Given the description of an element on the screen output the (x, y) to click on. 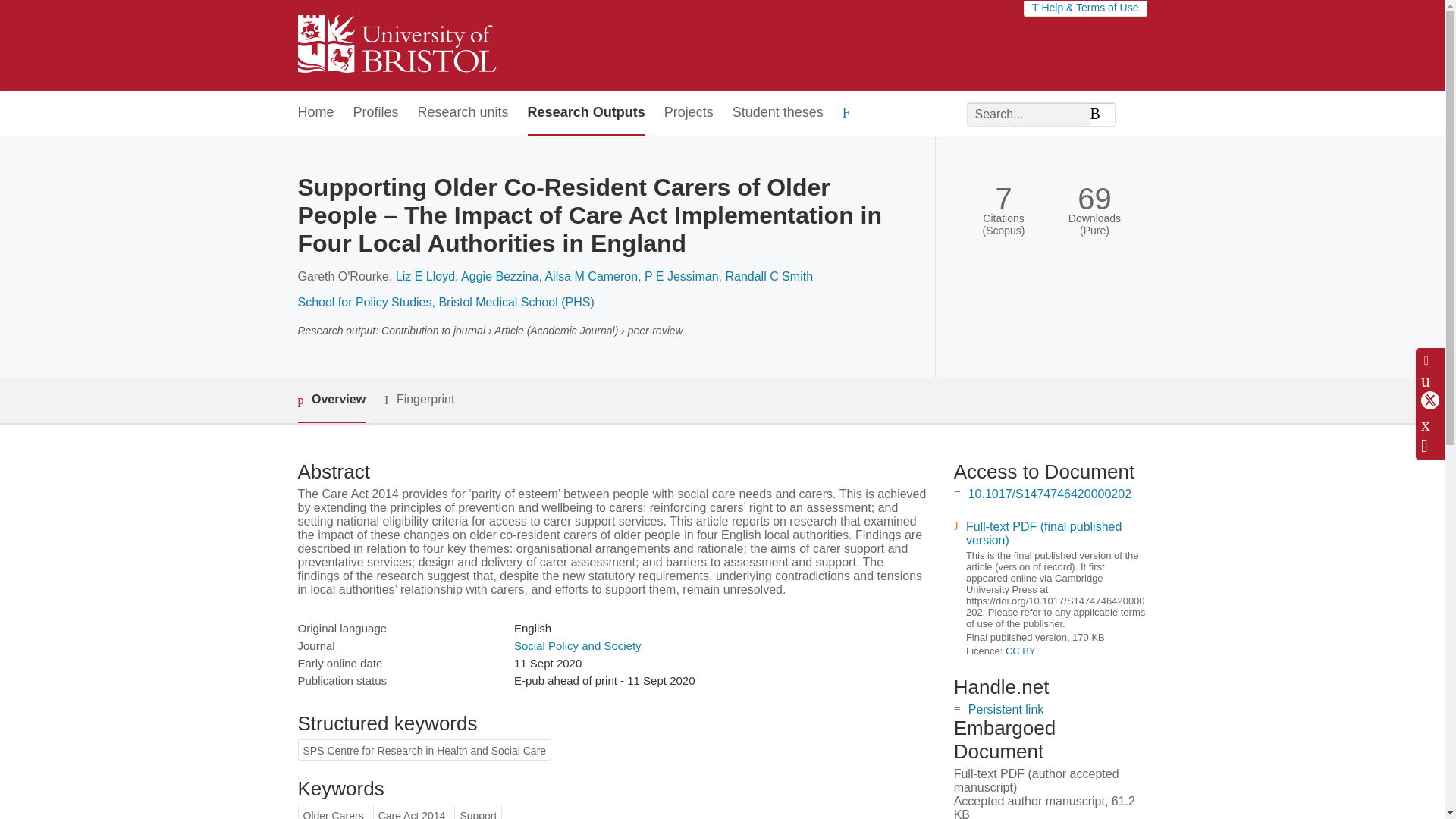
Randall C Smith (768, 276)
Research units (462, 112)
Persistent link (1005, 708)
Liz E Lloyd (425, 276)
Research Outputs (586, 112)
University of Bristol Home (396, 45)
Overview (331, 400)
Fingerprint (419, 399)
Aggie Bezzina (499, 276)
Student theses (778, 112)
Profiles (375, 112)
P E Jessiman (682, 276)
School for Policy Studies (363, 301)
Ailsa M Cameron (590, 276)
Projects (688, 112)
